Given the description of an element on the screen output the (x, y) to click on. 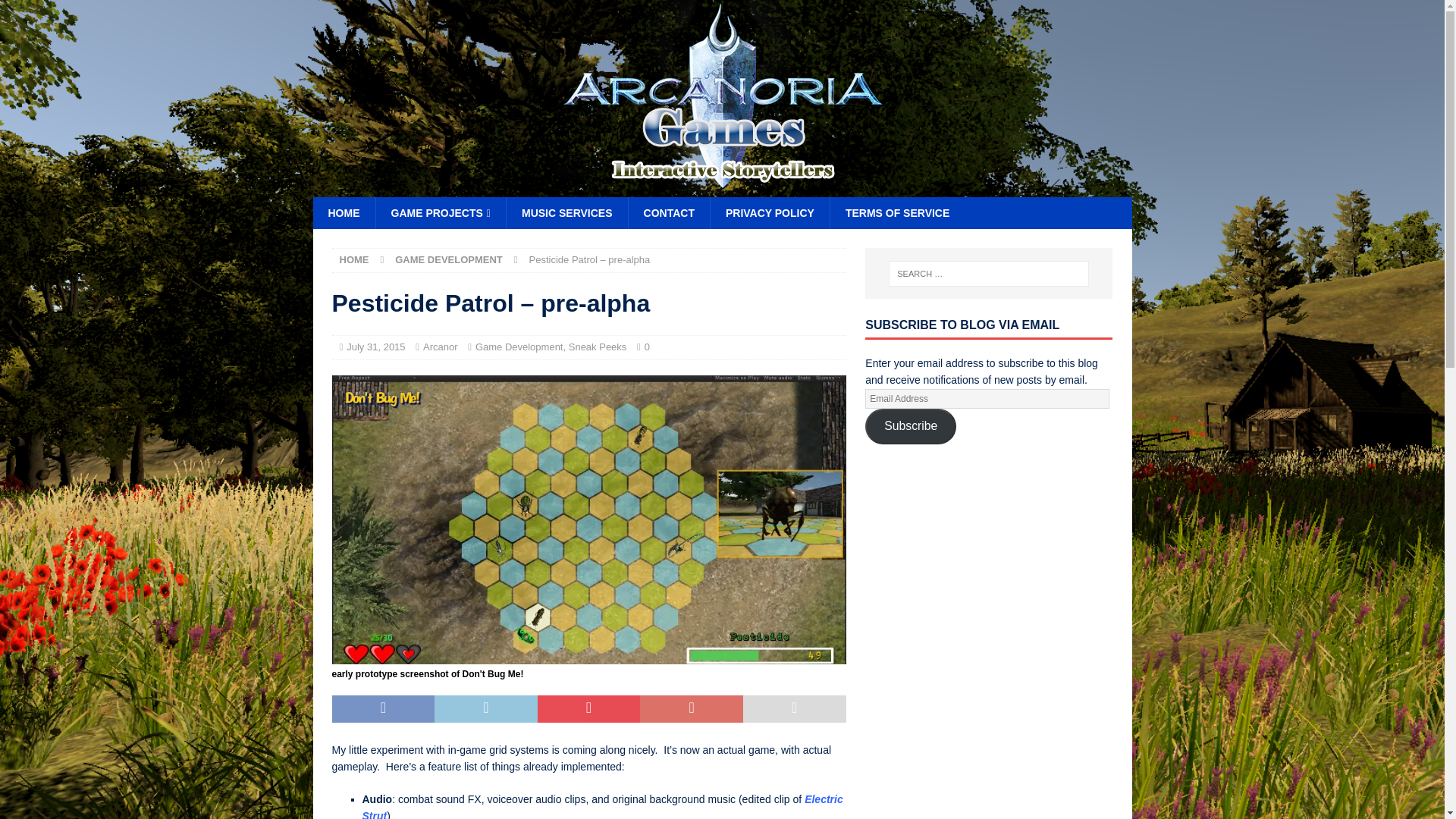
Electric Strut (602, 806)
Sneak Peeks (598, 346)
Game Development (519, 346)
HOME (343, 213)
GAME PROJECTS (439, 213)
PRIVACY POLICY (769, 213)
MUSIC SERVICES (566, 213)
July 31, 2015 (375, 346)
Home (343, 213)
CONTACT (668, 213)
Arcanor (440, 346)
Arcanoria Games (721, 188)
GAME DEVELOPMENT (448, 259)
HOME (354, 259)
0 (647, 346)
